Given the description of an element on the screen output the (x, y) to click on. 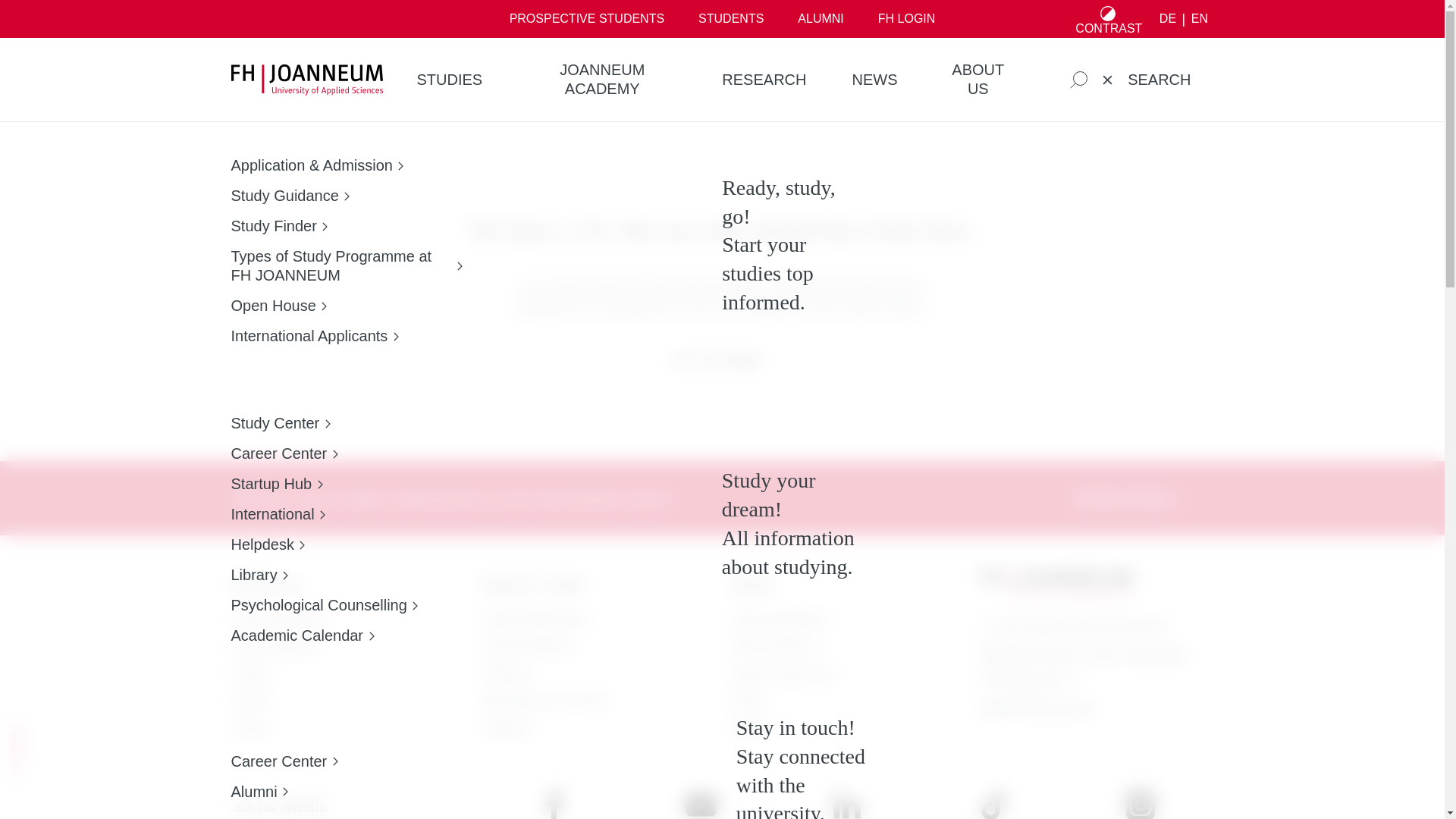
Career Center (283, 761)
Alumni (283, 791)
Career Center (323, 453)
SEARCH (1129, 79)
ALUMNI (820, 18)
Study Finder (346, 226)
CONTRAST (1109, 18)
Study Guidance (346, 195)
International (323, 514)
Psychological Counselling (323, 605)
FH LOGIN (906, 18)
EN (1198, 18)
Open House (346, 305)
Study Center (323, 423)
Academic Calendar (323, 635)
